Given the description of an element on the screen output the (x, y) to click on. 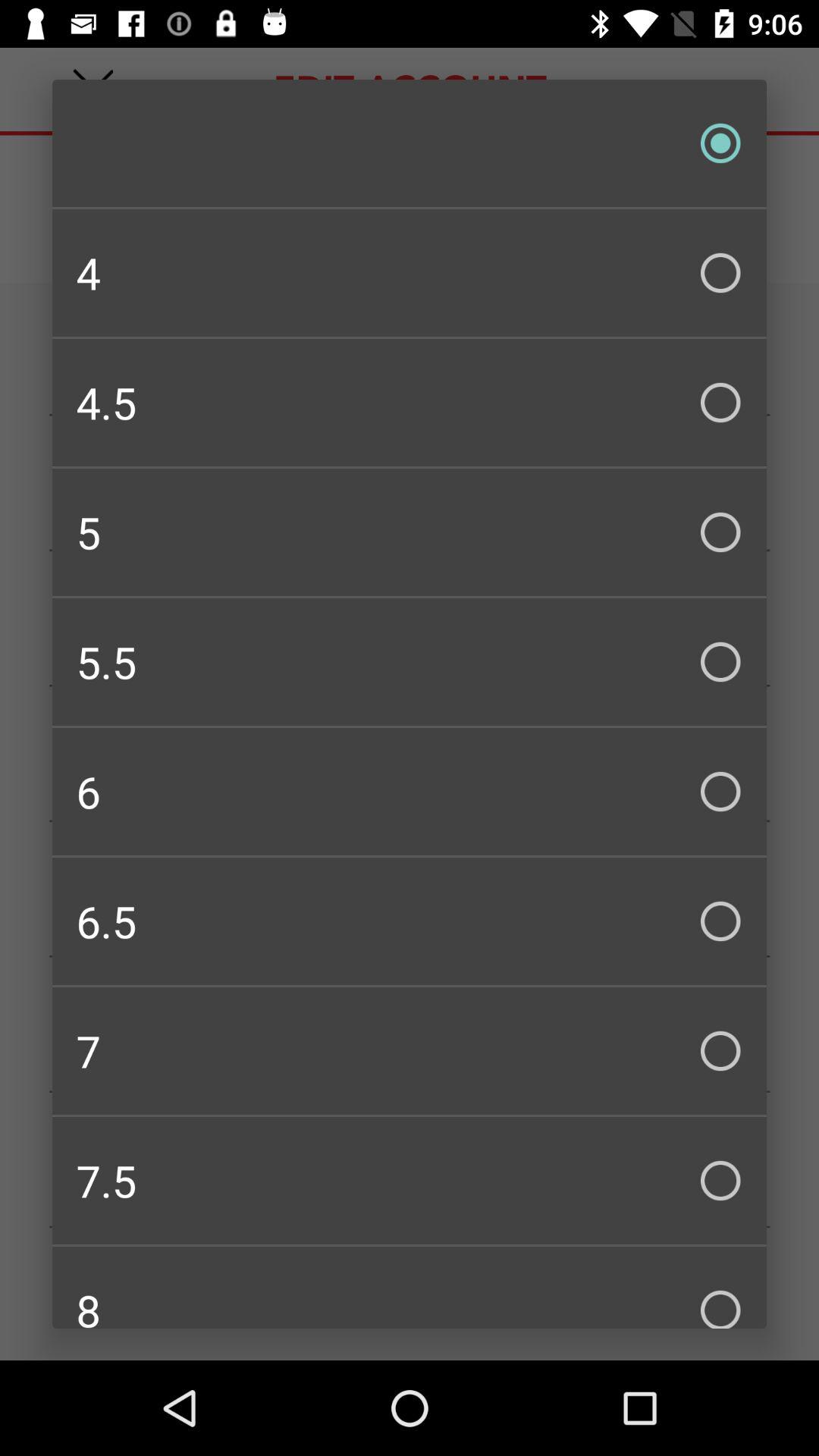
tap the 8 item (409, 1287)
